Given the description of an element on the screen output the (x, y) to click on. 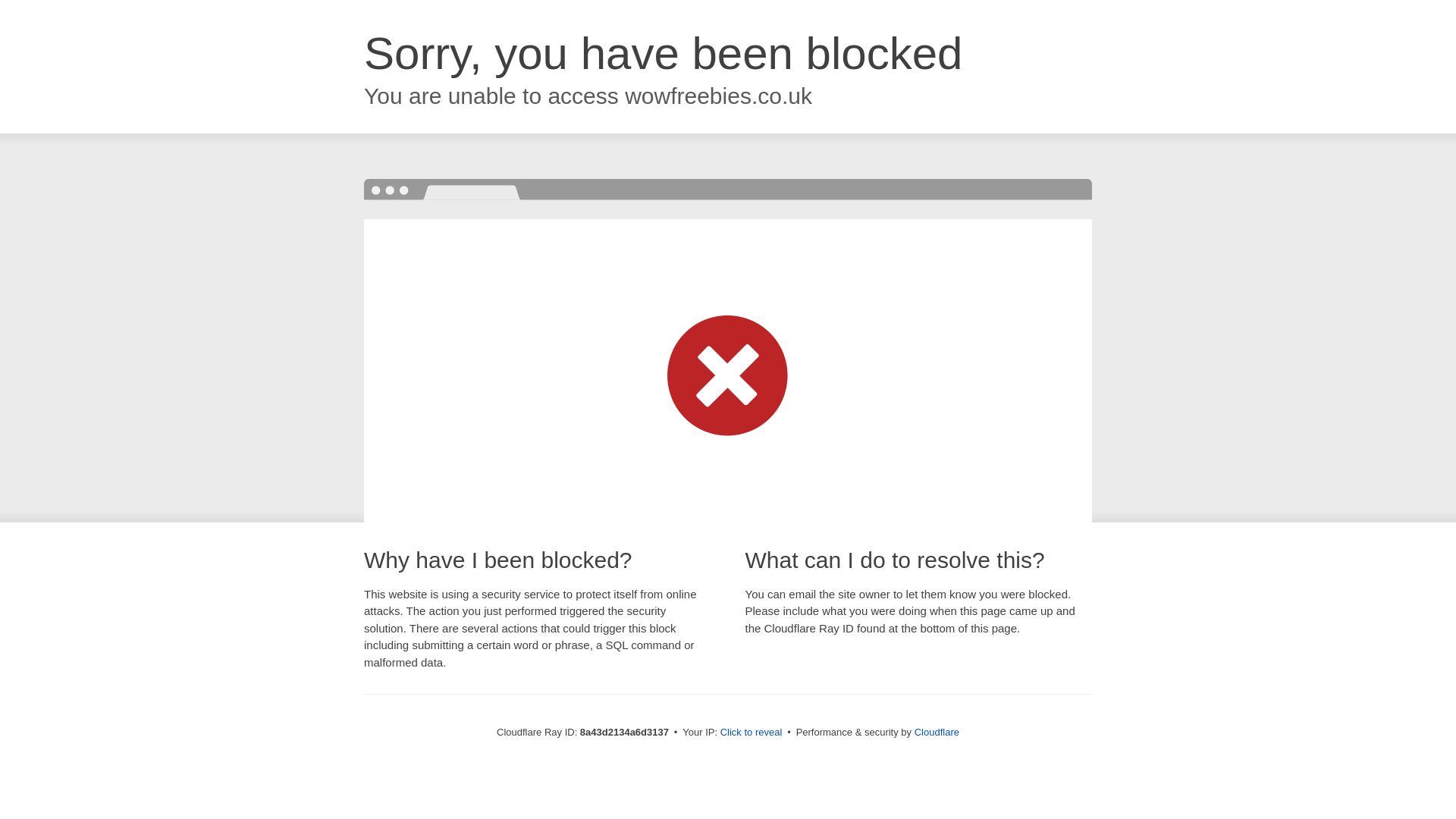
Click to reveal (751, 732)
Cloudflare (936, 731)
